Given the description of an element on the screen output the (x, y) to click on. 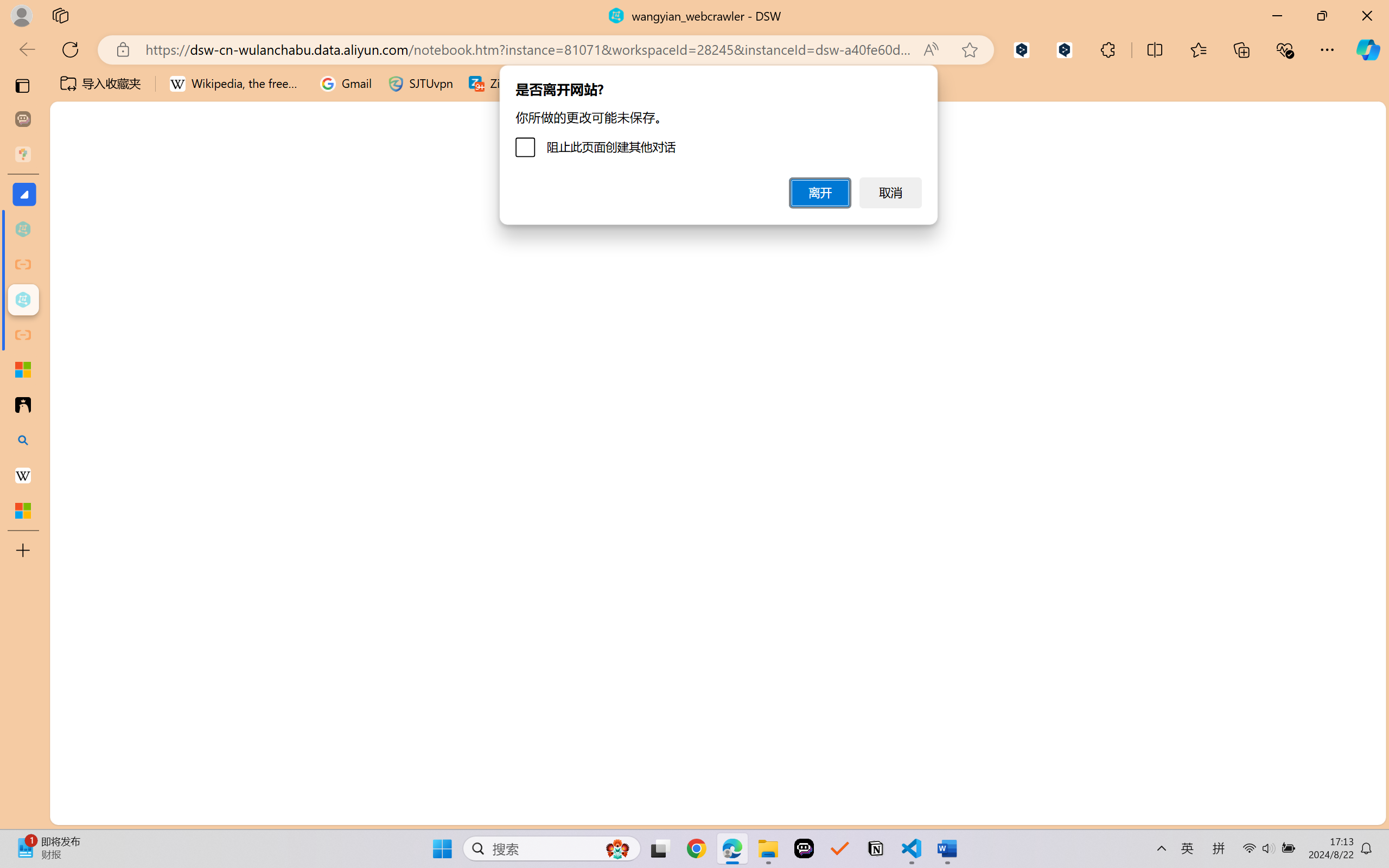
Albanian (1271, 210)
Accessibility Help (581, 62)
Bashkir (1271, 383)
TextBox 61 (582, 464)
Mark as Decorative (344, 62)
Amharic (1271, 235)
Czech (1271, 704)
